Given the description of an element on the screen output the (x, y) to click on. 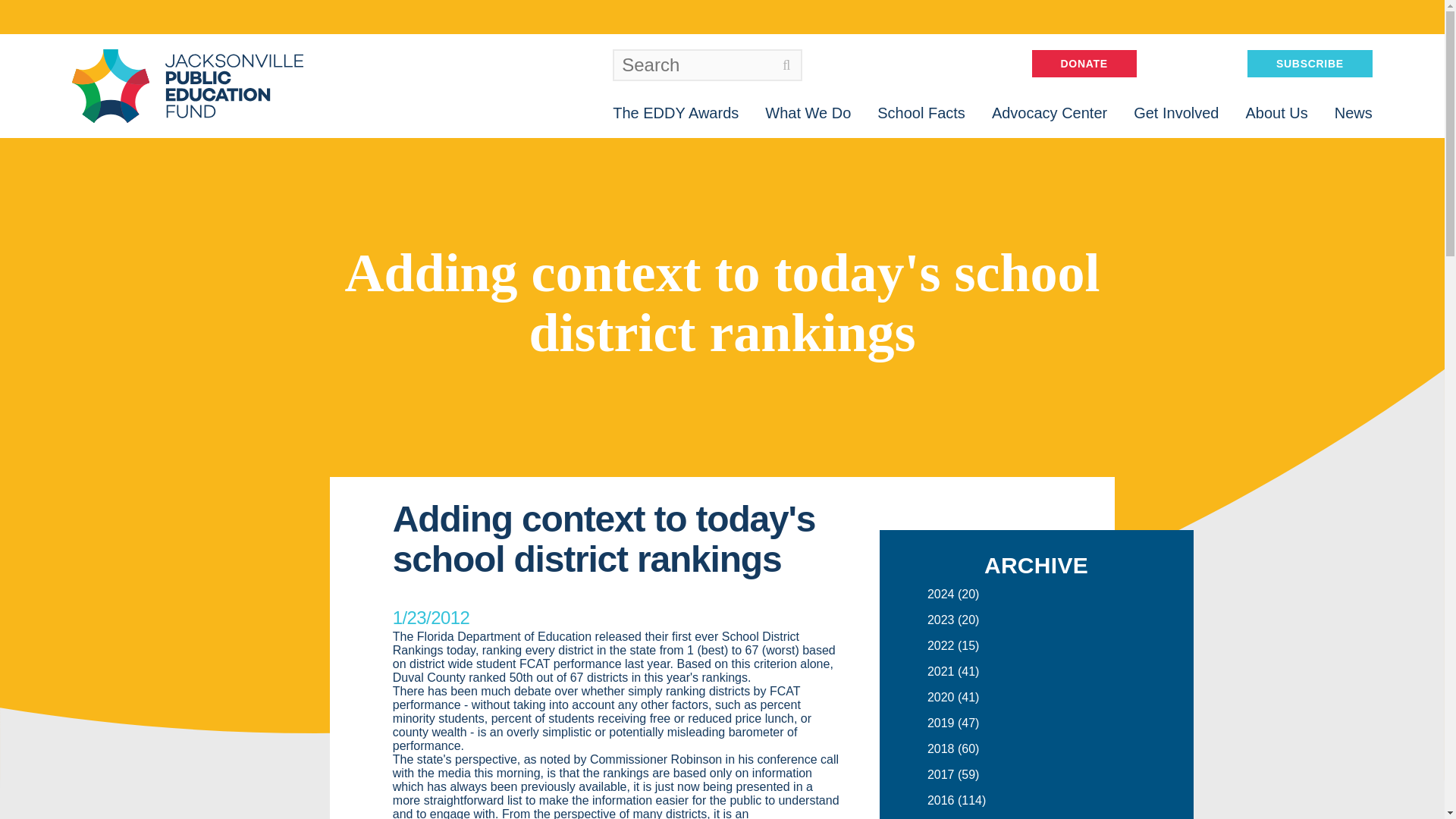
What We Do (807, 112)
The EDDY Awards (675, 112)
School Facts (921, 112)
Get Involved (1176, 112)
Jacksonville Public Education Fund (186, 85)
Advocacy Center (1048, 112)
About Us (1275, 112)
